Given the description of an element on the screen output the (x, y) to click on. 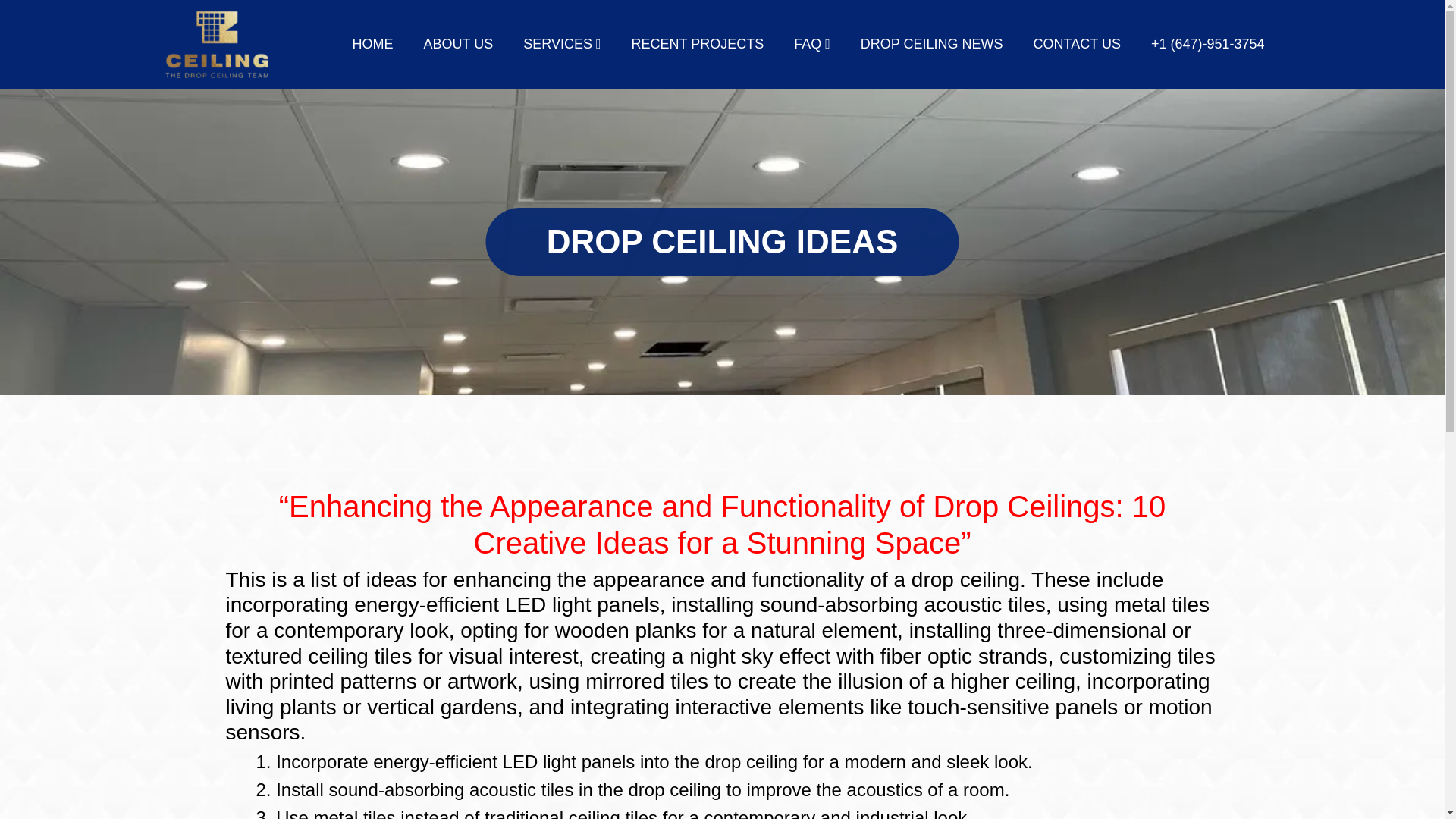
CONTACT US (1077, 44)
RECENT PROJECTS (697, 44)
DROP CEILING NEWS (931, 44)
SERVICES (560, 44)
HOME (372, 44)
ABOUT US (458, 44)
FAQ (811, 44)
